Given the description of an element on the screen output the (x, y) to click on. 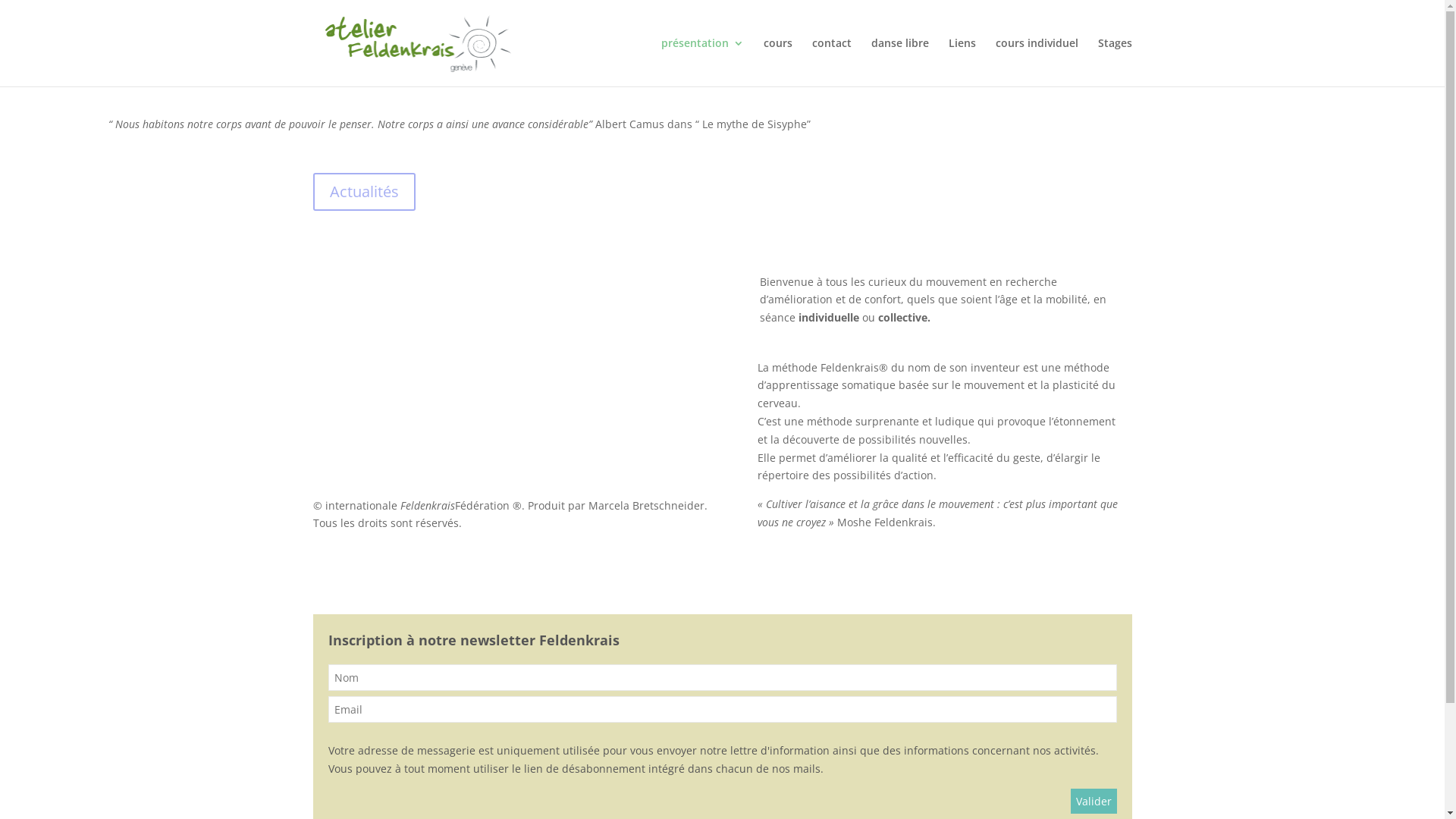
Liens Element type: text (961, 61)
danse libre Element type: text (899, 61)
cours individuel Element type: text (1035, 61)
contact Element type: text (830, 61)
Valider Element type: text (1093, 800)
Stages Element type: text (1115, 61)
cours Element type: text (776, 61)
